Given the description of an element on the screen output the (x, y) to click on. 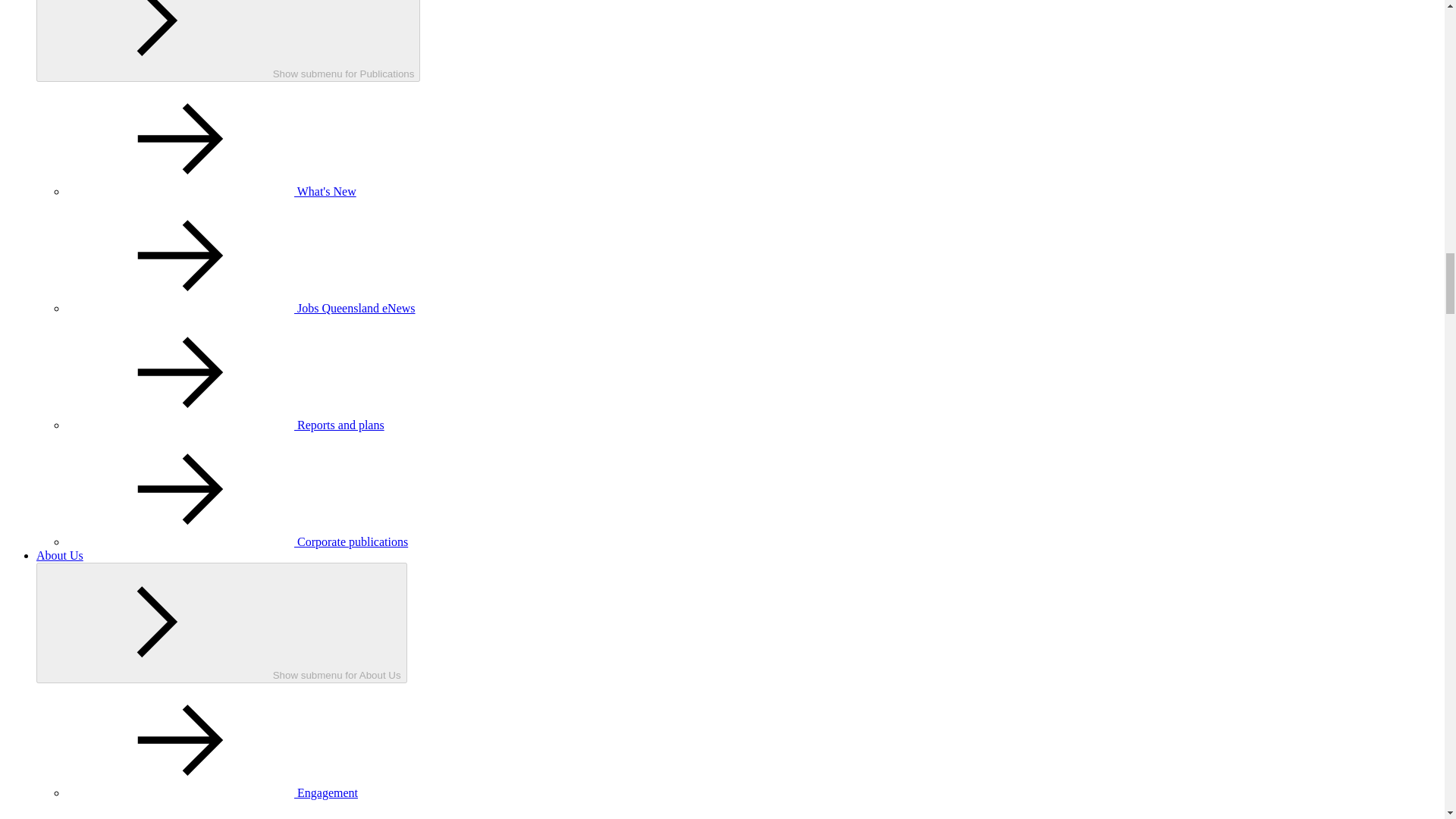
Jobs Queensland eNews (240, 308)
About Us (59, 554)
What's New (211, 191)
Show submenu for About Us (221, 622)
Show submenu for Publications (228, 40)
Engagement (212, 792)
Corporate publications (236, 541)
Reports and plans (225, 424)
